Given the description of an element on the screen output the (x, y) to click on. 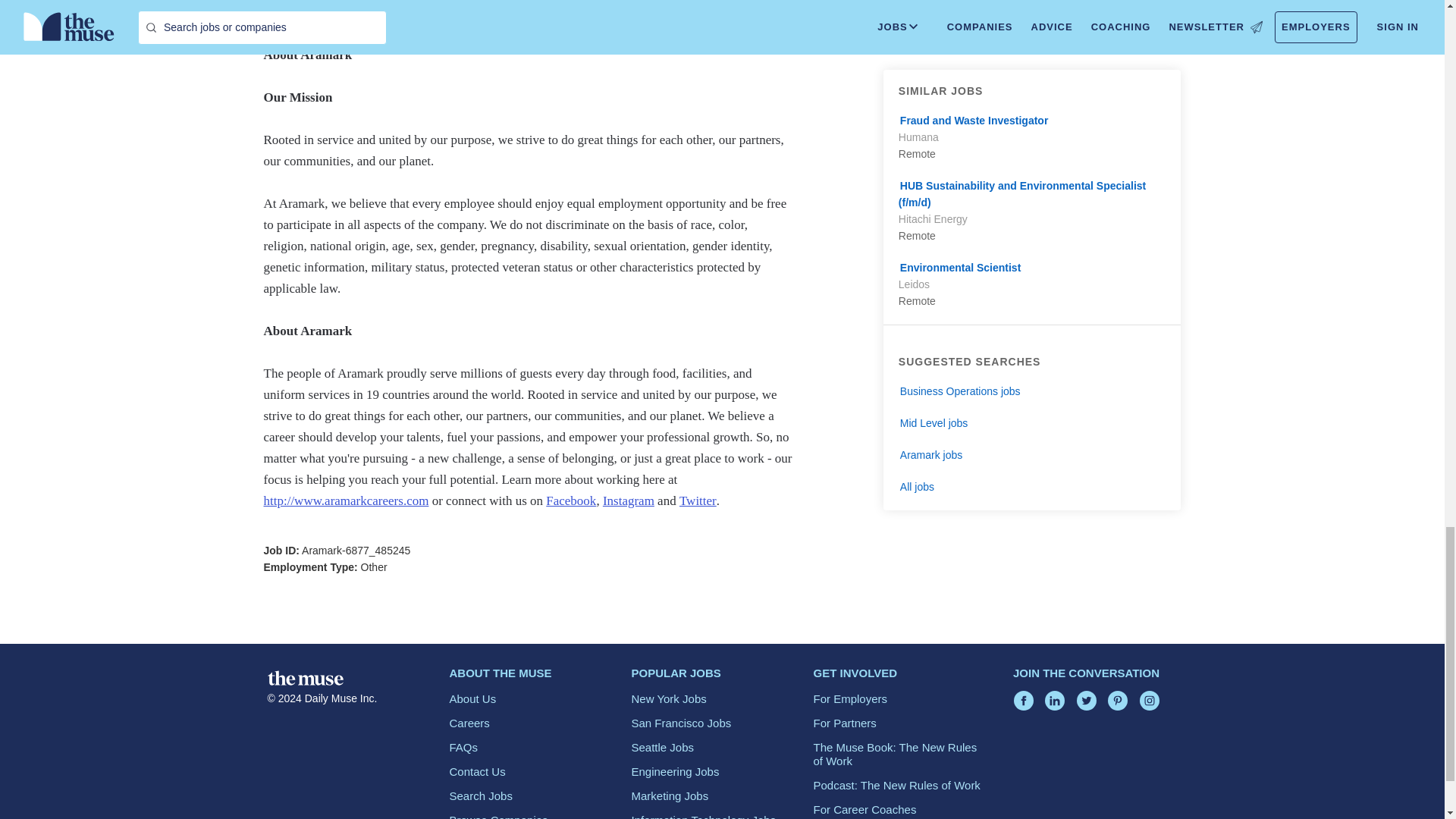
The Muse LogoA logo with "the muse" in white text. (304, 677)
